Given the description of an element on the screen output the (x, y) to click on. 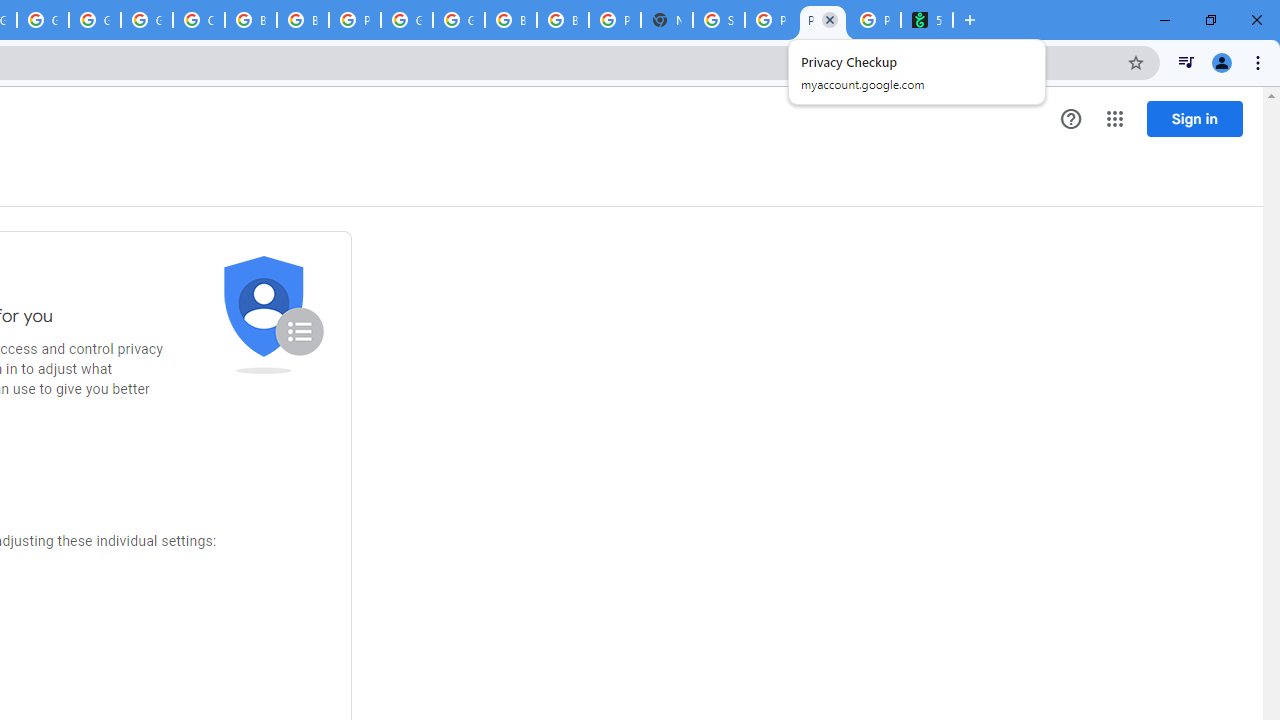
New Tab (666, 20)
Browse Chrome as a guest - Computer - Google Chrome Help (250, 20)
Sign in (1194, 118)
Browse Chrome as a guest - Computer - Google Chrome Help (562, 20)
Control your music, videos, and more (1185, 62)
Privacy Checkup (822, 20)
Google apps (1114, 118)
Sign in - Google Accounts (718, 20)
Google Cloud Platform (406, 20)
